Given the description of an element on the screen output the (x, y) to click on. 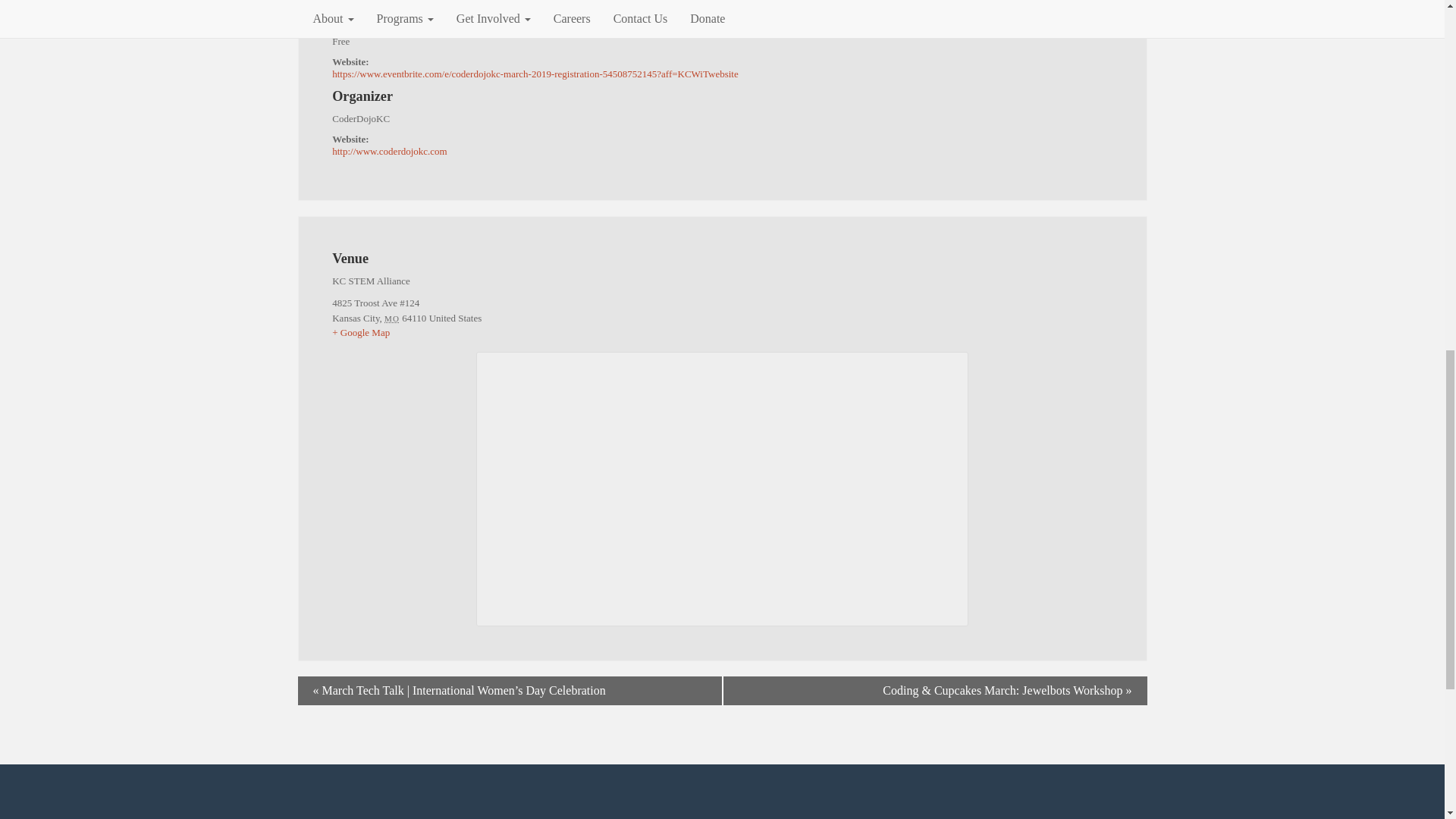
2019-03-09 (721, 9)
Click to view a Google Map (721, 332)
Missouri (391, 317)
